Given the description of an element on the screen output the (x, y) to click on. 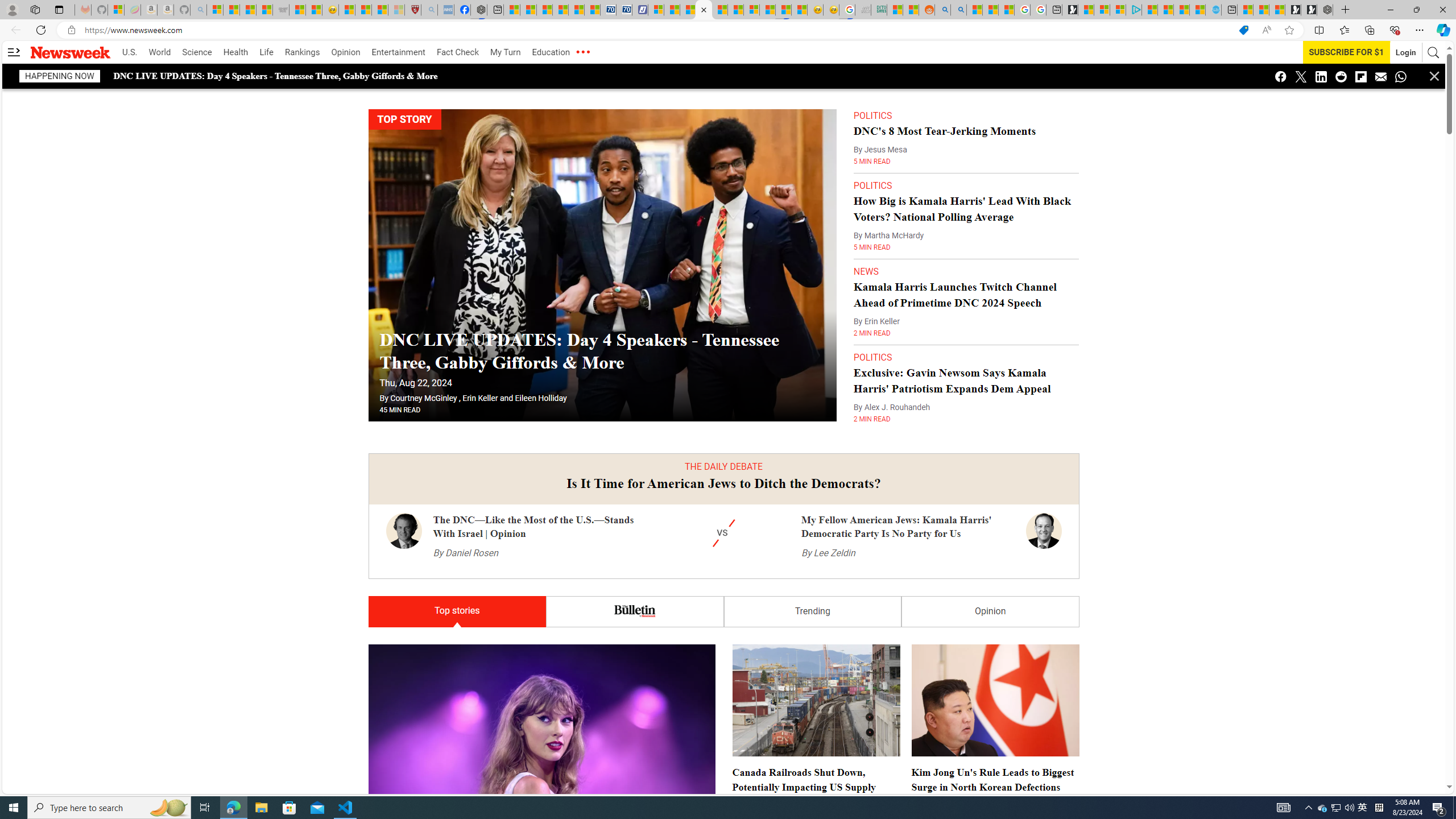
Utah sues federal government - Search (958, 9)
By Lee Zeldin (828, 552)
Newsweek logo (70, 51)
Eileen Holliday (540, 397)
By Daniel Rosen (464, 552)
My Turn (505, 52)
AutomationID: moreOptions (582, 51)
Recipes - MSN (346, 9)
MSN (783, 9)
NEWS (866, 271)
